Given the description of an element on the screen output the (x, y) to click on. 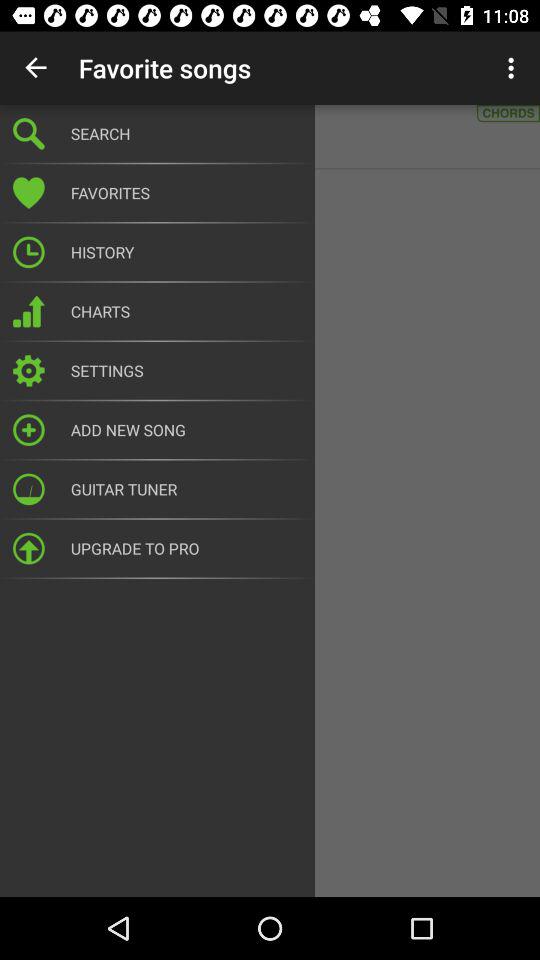
tap the favorites icon (185, 193)
